Given the description of an element on the screen output the (x, y) to click on. 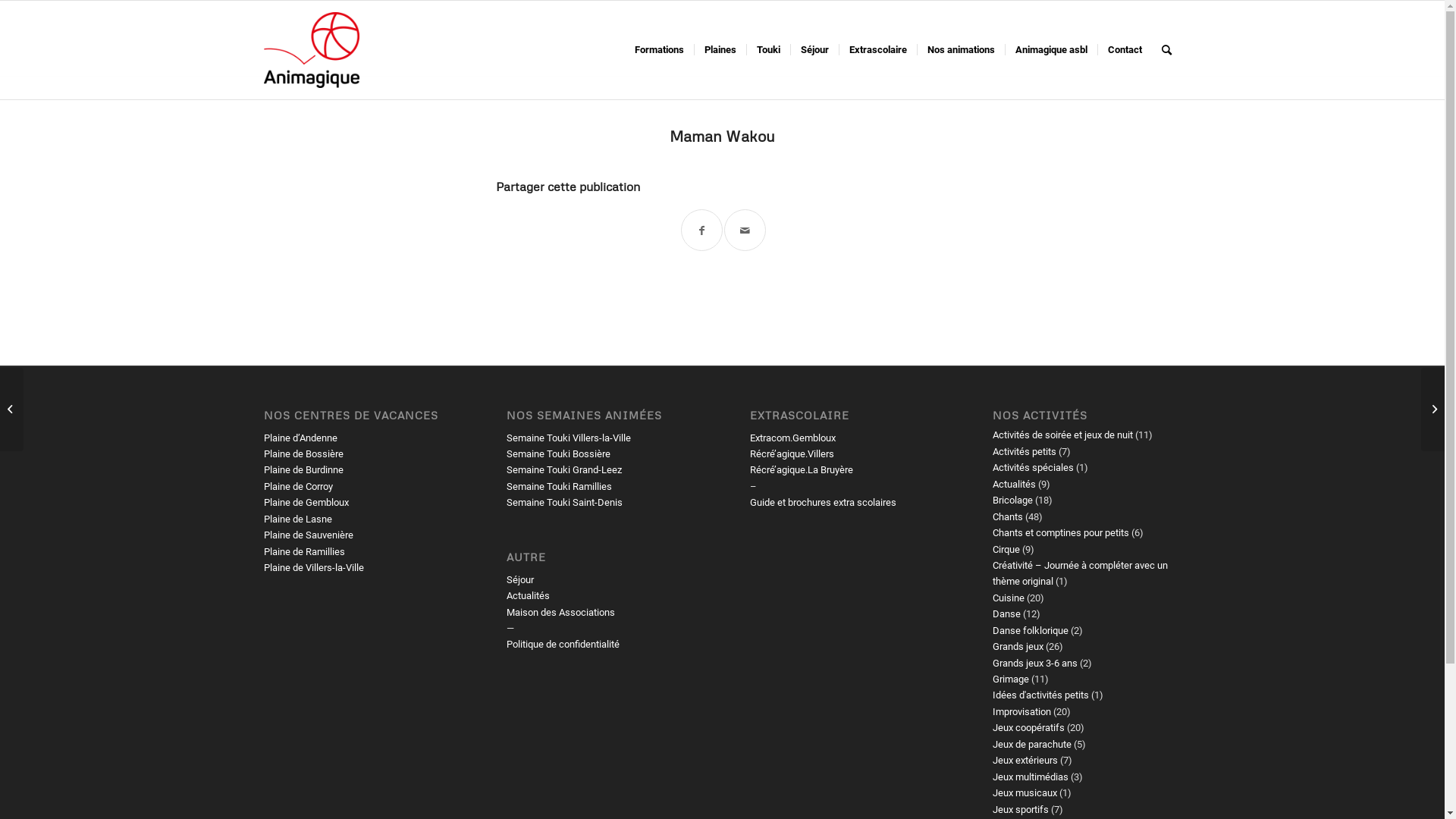
Bricolage Element type: text (1012, 499)
Jeux sportifs Element type: text (1020, 809)
Semaine Touki Grand-Leez Element type: text (563, 469)
Danse folklorique Element type: text (1030, 630)
Plaine de Gembloux Element type: text (305, 502)
Animagique asbl Element type: text (1050, 49)
Grands jeux Element type: text (1017, 646)
Jeux musicaux Element type: text (1024, 792)
Grands jeux 3-6 ans Element type: text (1034, 662)
Plaine de Villers-la-Ville Element type: text (313, 567)
Plaines Element type: text (719, 49)
Extracom.Gembloux Element type: text (792, 437)
Nos animations Element type: text (960, 49)
Danse Element type: text (1006, 613)
Semaine Touki Saint-Denis Element type: text (564, 502)
Plaine de Corroy Element type: text (297, 486)
Formations Element type: text (658, 49)
Contact Element type: text (1123, 49)
Cuisine Element type: text (1008, 597)
Chants Element type: text (1007, 516)
Plaine de Ramillies Element type: text (304, 551)
Jeux de parachute Element type: text (1031, 743)
Semaine Touki Villers-la-Ville Element type: text (568, 437)
Plaine de Lasne Element type: text (297, 518)
Maison des Associations Element type: text (560, 612)
Extrascolaire Element type: text (877, 49)
Chants et comptines pour petits Element type: text (1060, 532)
Touki Element type: text (768, 49)
Cirque Element type: text (1005, 549)
Improvisation Element type: text (1021, 711)
Grimage Element type: text (1010, 678)
Semaine Touki Ramillies Element type: text (558, 486)
Plaine de Burdinne Element type: text (303, 469)
Guide et brochures extra scolaires Element type: text (822, 502)
